Given the description of an element on the screen output the (x, y) to click on. 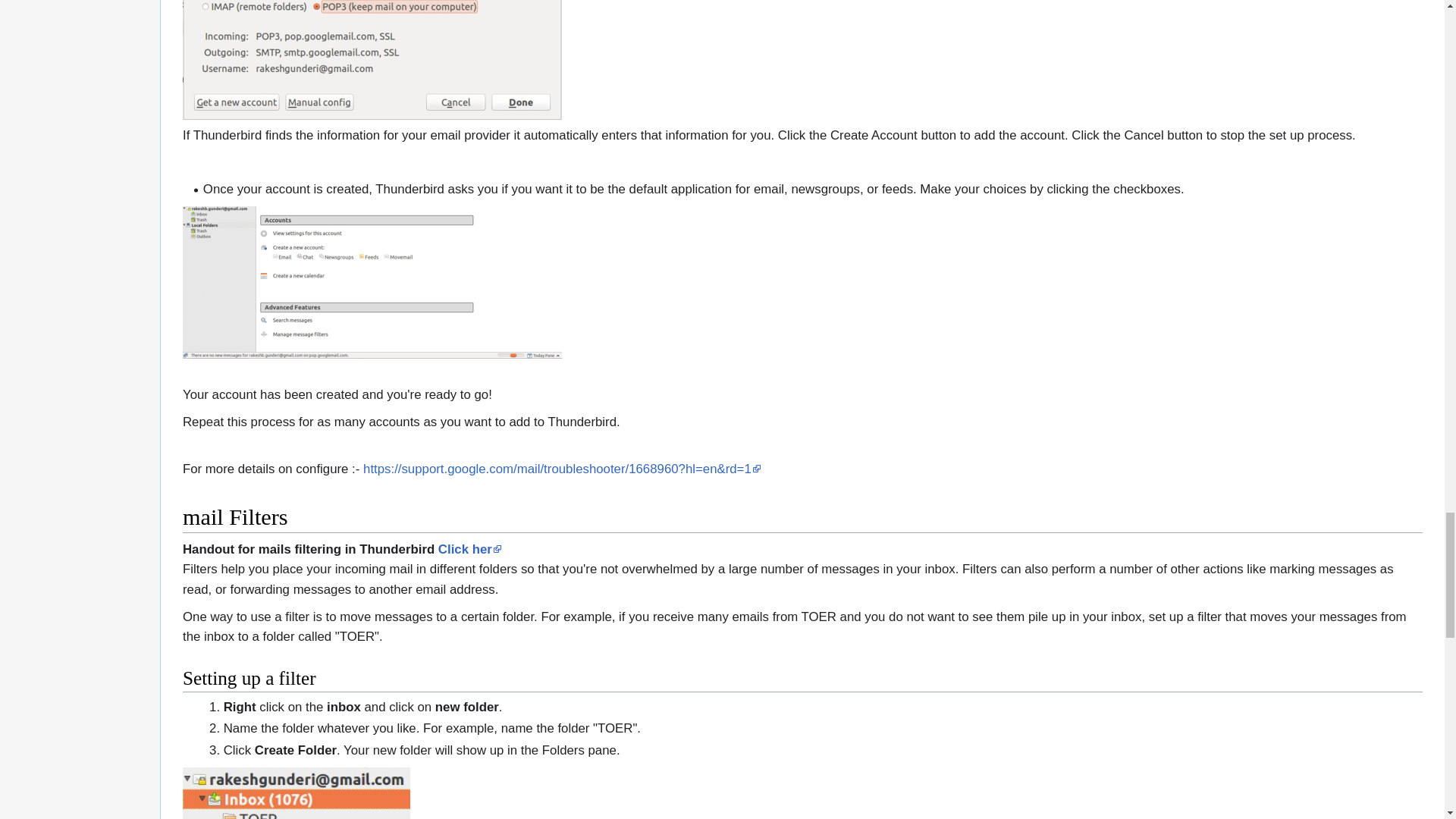
Click her (470, 548)
